Given the description of an element on the screen output the (x, y) to click on. 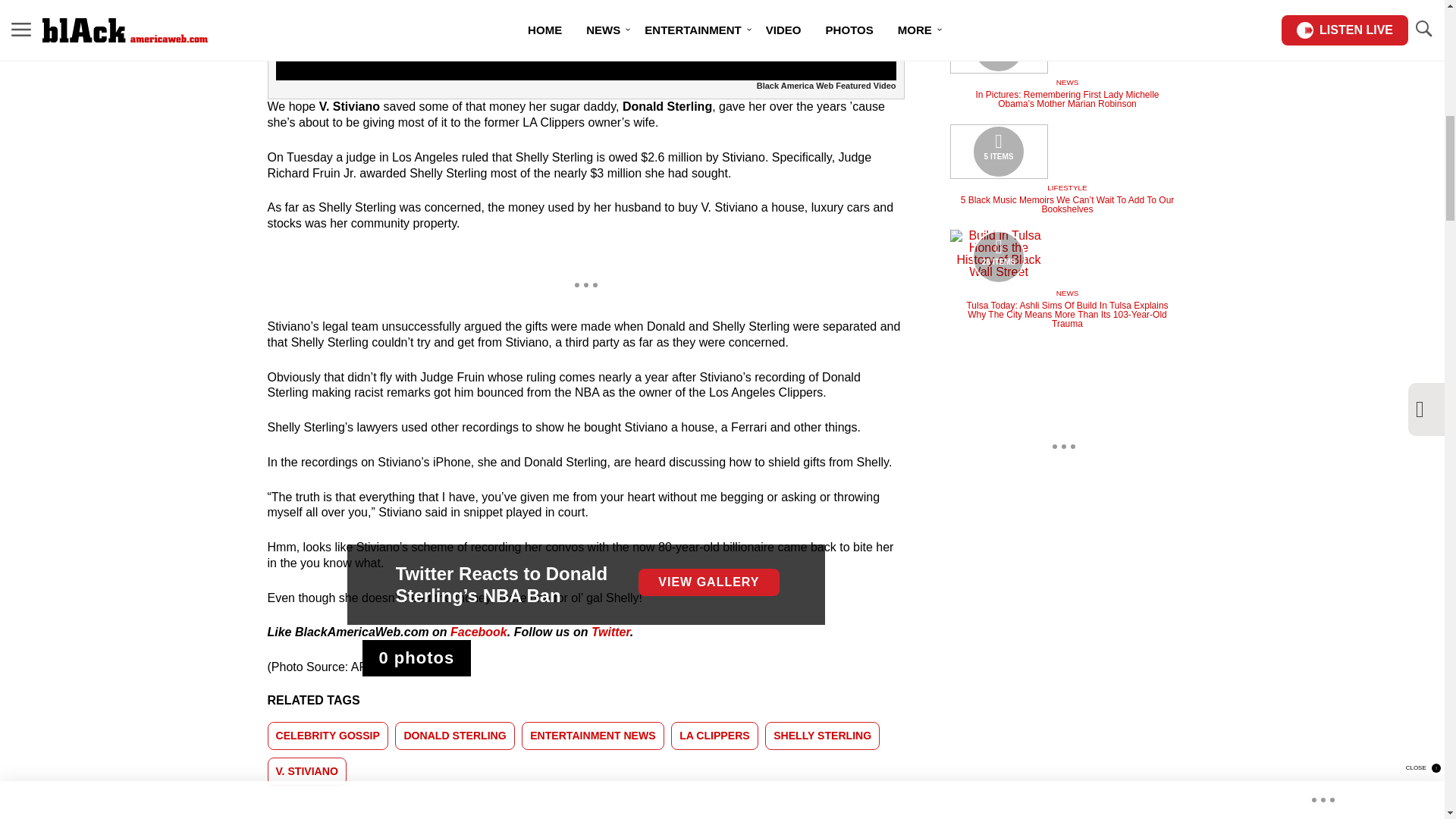
Media Playlist (416, 657)
Media Playlist (998, 151)
Media Playlist (998, 45)
Media Playlist (998, 256)
